Given the description of an element on the screen output the (x, y) to click on. 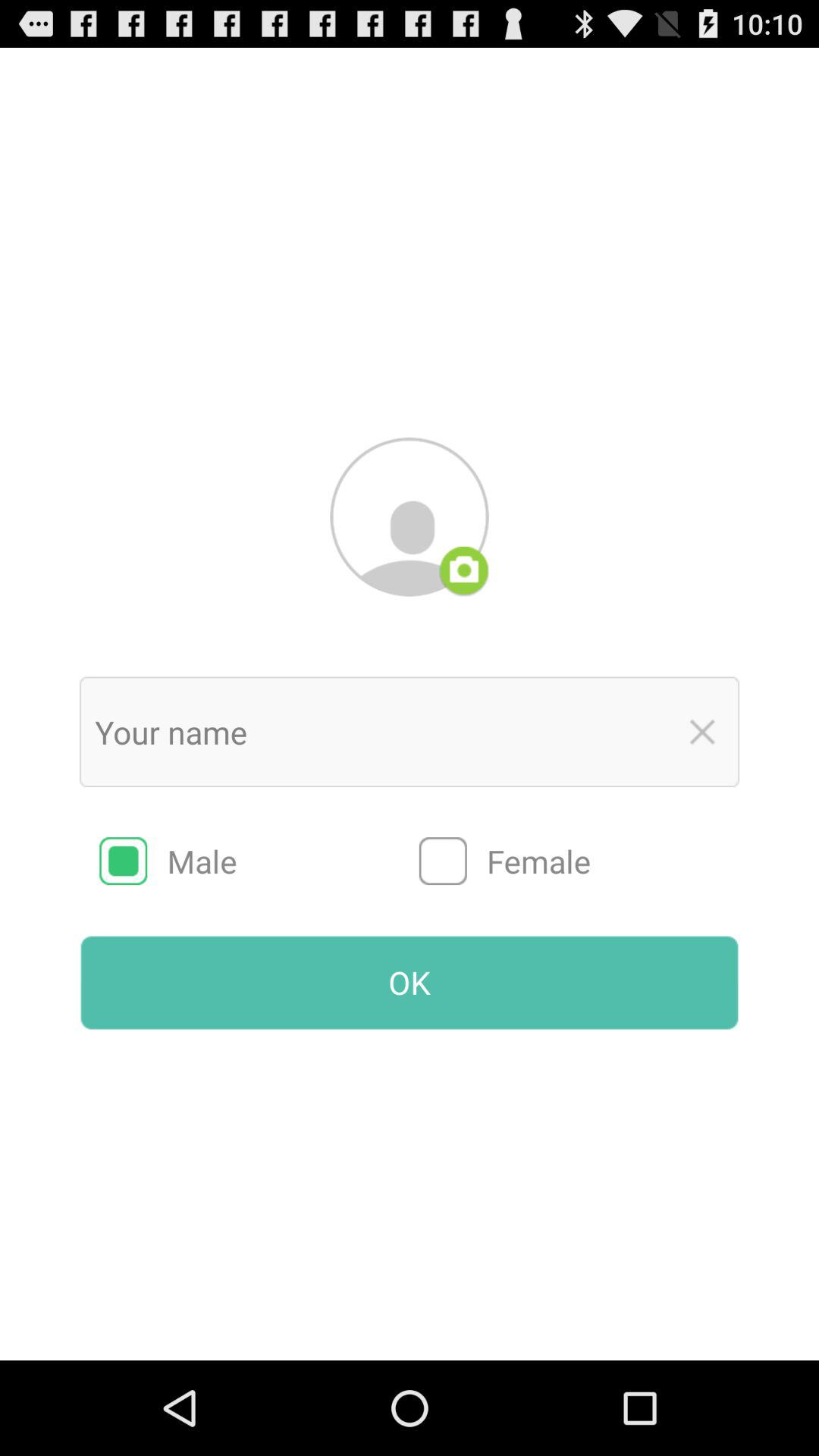
swipe to the male icon (259, 860)
